Given the description of an element on the screen output the (x, y) to click on. 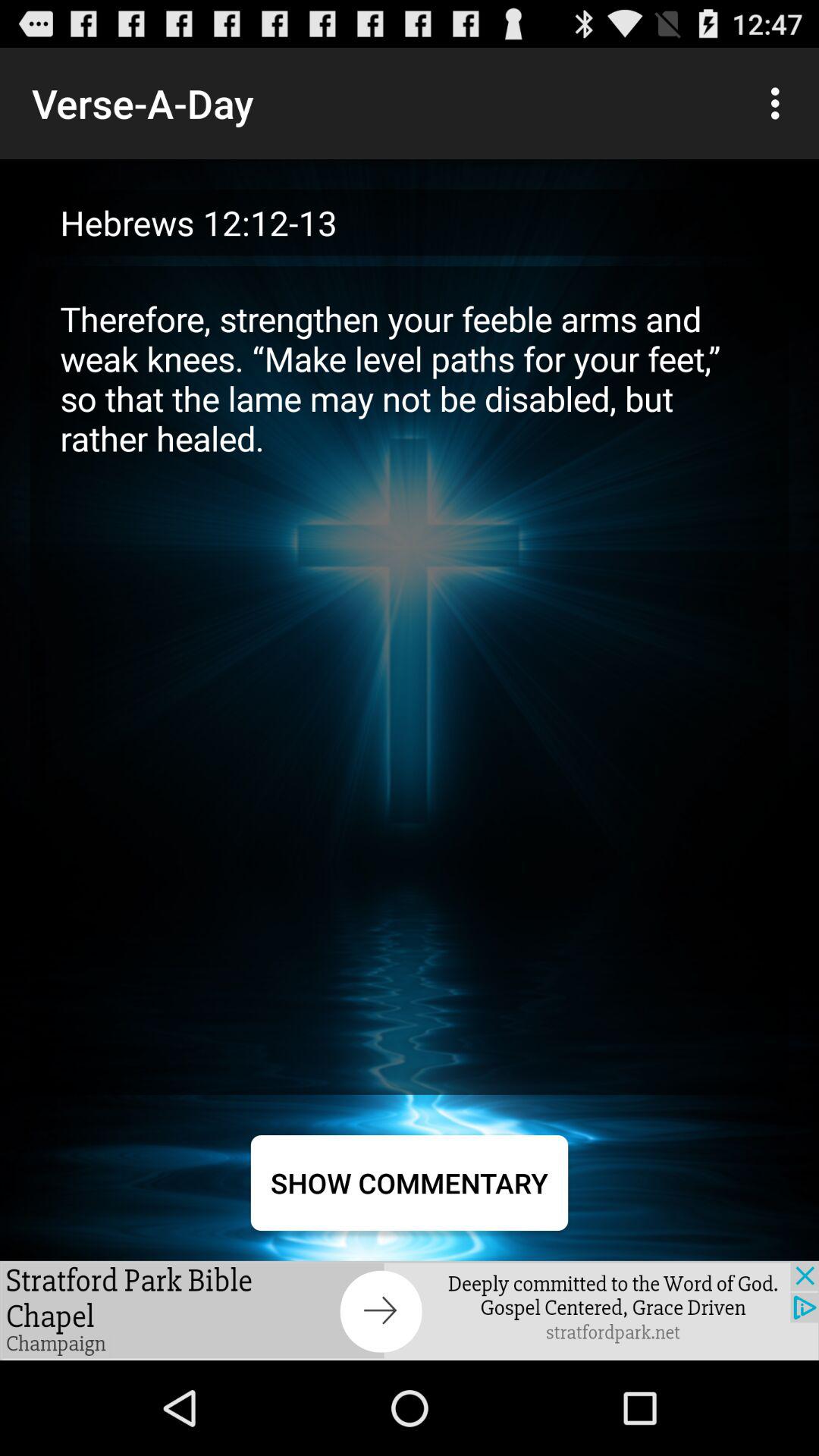
press icon below the hebrews 12 12 (409, 680)
